Given the description of an element on the screen output the (x, y) to click on. 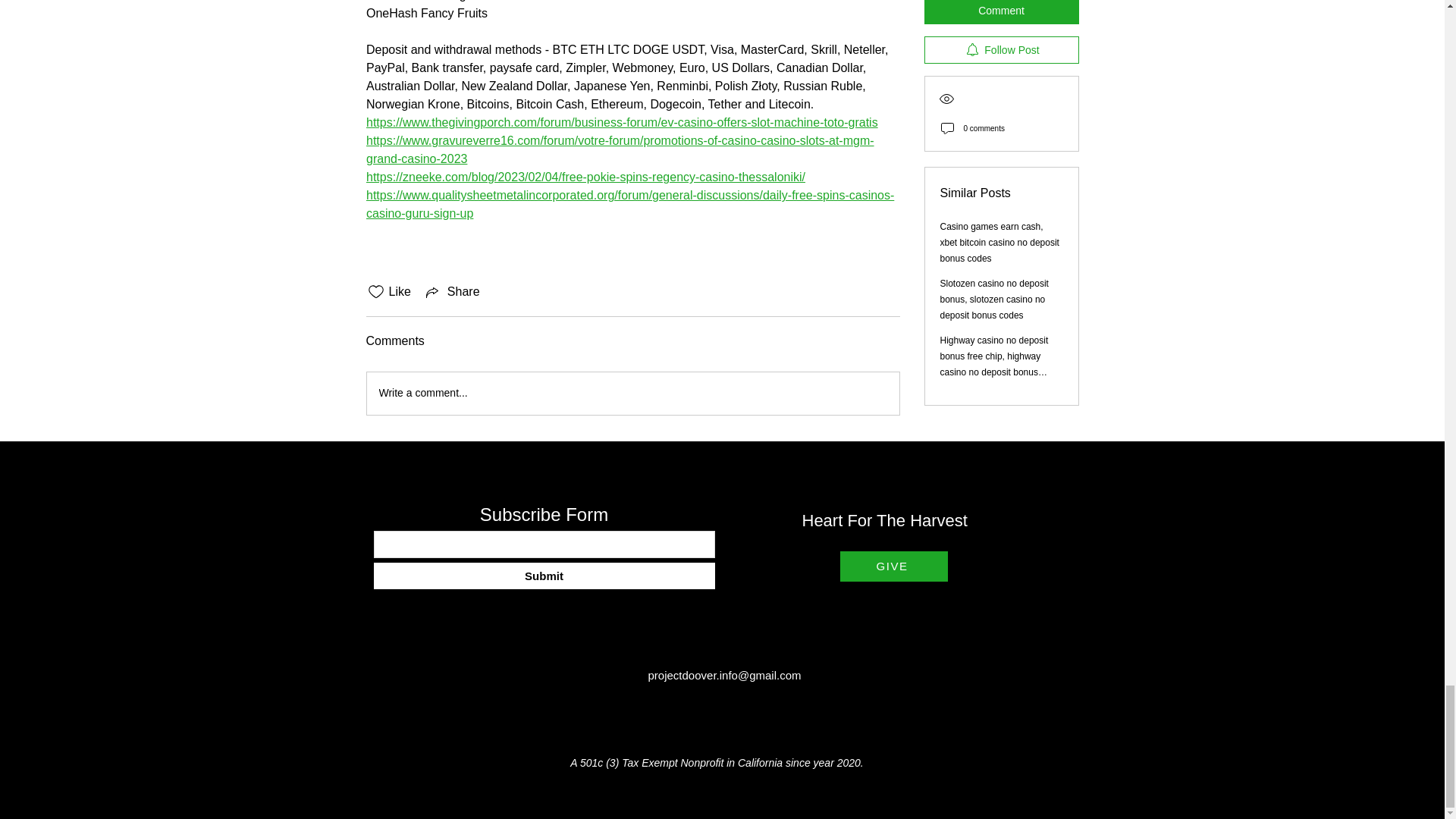
GIVE (893, 566)
Share (451, 291)
Submit (543, 575)
Write a comment... (632, 393)
